Given the description of an element on the screen output the (x, y) to click on. 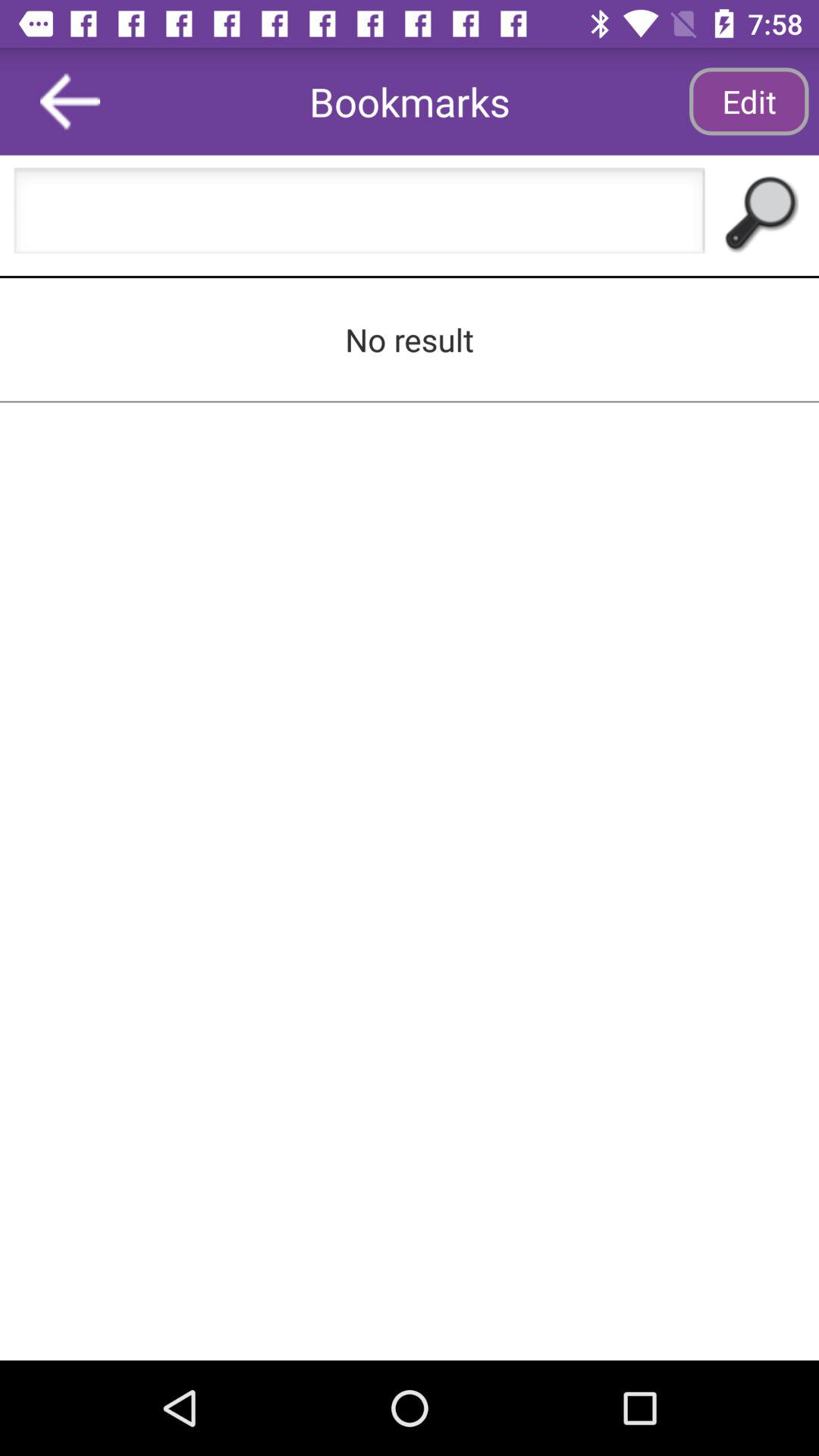
choose the icon at the top left corner (69, 101)
